Given the description of an element on the screen output the (x, y) to click on. 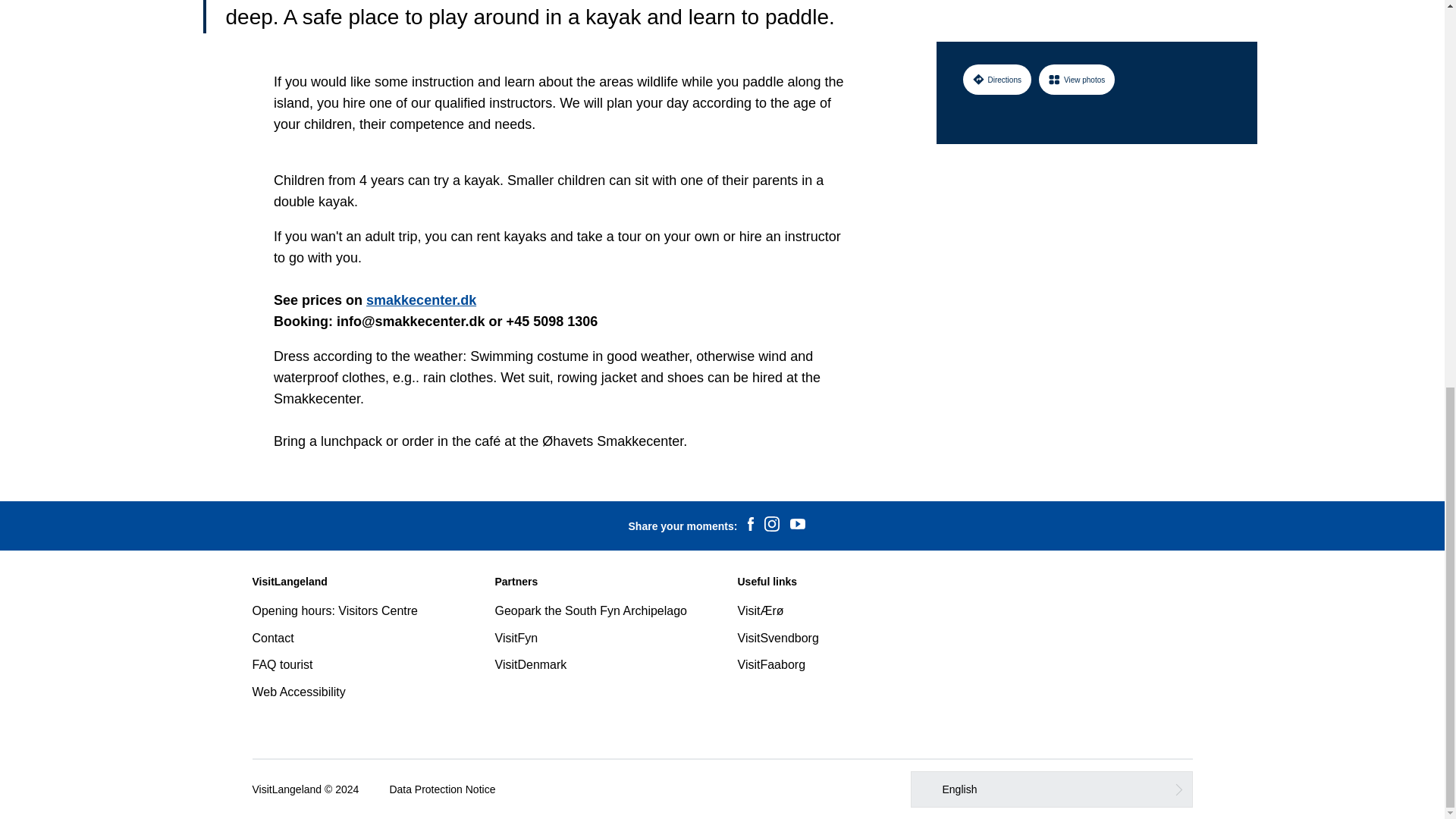
facebook (750, 525)
VisitFaaborg (770, 664)
VisitFaaborg (770, 664)
VisitDenmark (530, 664)
Opening hours: Visitors Centre (333, 610)
VisitFyn (516, 637)
instagram (771, 526)
VisitSvendborg (777, 637)
Data Protection Notice (441, 789)
Opening hours: Visitors Centre (333, 610)
VisitFyn (516, 637)
youtube (797, 525)
Web Accessibility (298, 691)
Geopark the South Fyn Archipelago (591, 610)
Contact (272, 637)
